Given the description of an element on the screen output the (x, y) to click on. 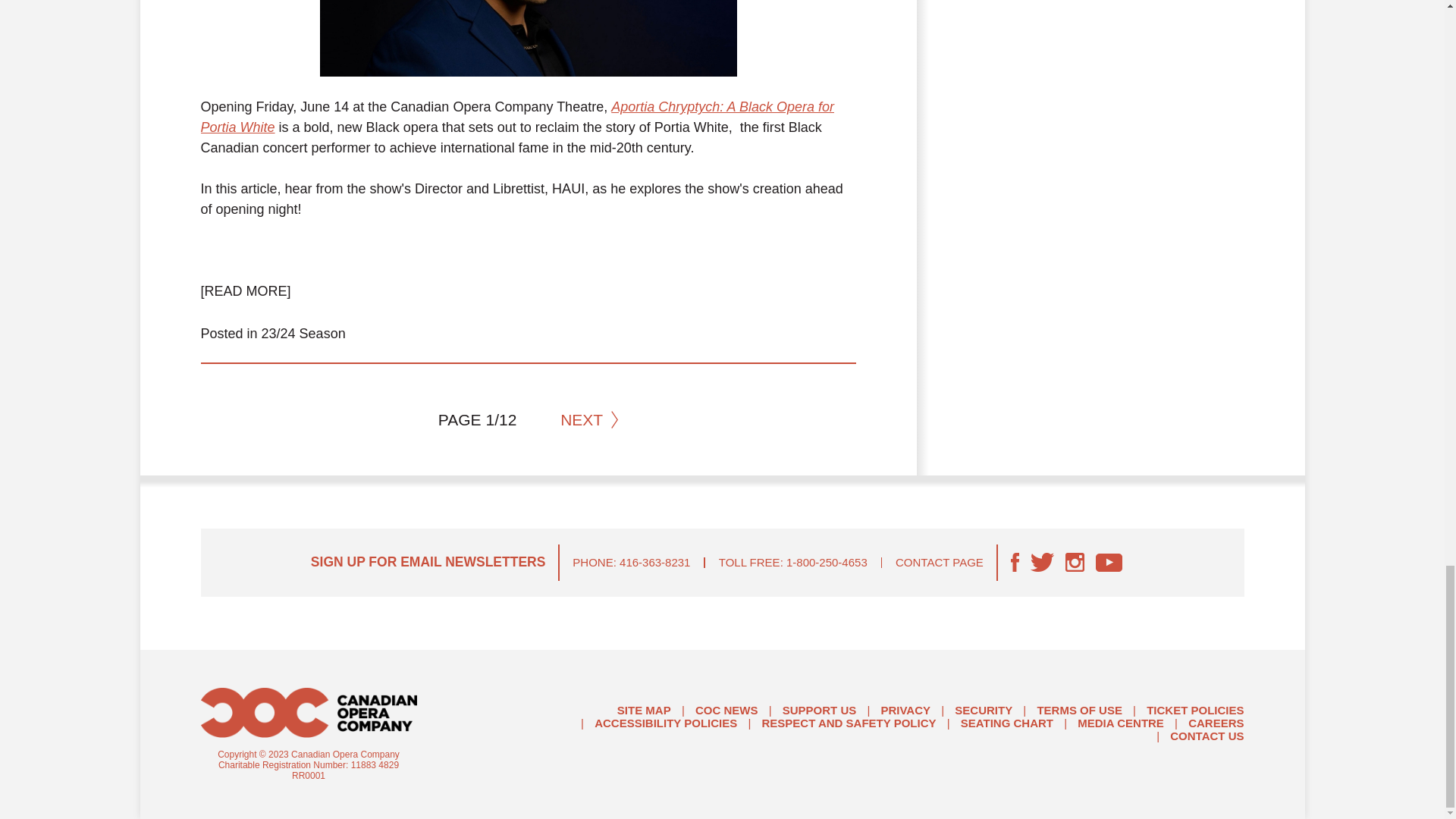
Aportia Chryptych: A Black Opera for Portia White (516, 117)
NEXT (588, 419)
